Given the description of an element on the screen output the (x, y) to click on. 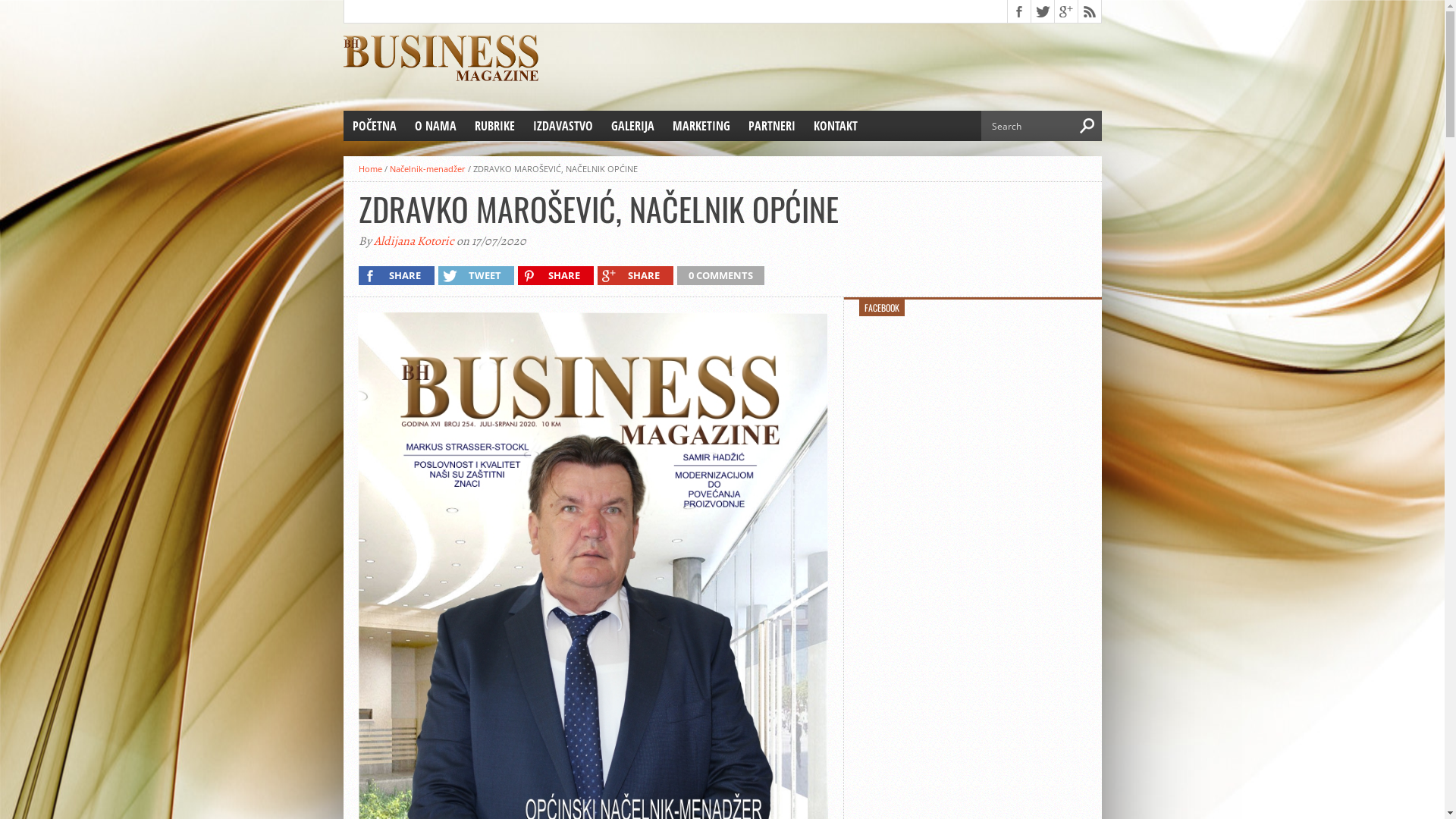
PARTNERI Element type: text (770, 125)
MARKETING Element type: text (700, 125)
KONTAKT Element type: text (834, 125)
O NAMA Element type: text (434, 125)
IZDAVASTVO Element type: text (562, 125)
Home Element type: text (369, 168)
Aldijana Kotoric Element type: text (413, 240)
RUBRIKE Element type: text (494, 125)
GALERIJA Element type: text (632, 125)
